Given the description of an element on the screen output the (x, y) to click on. 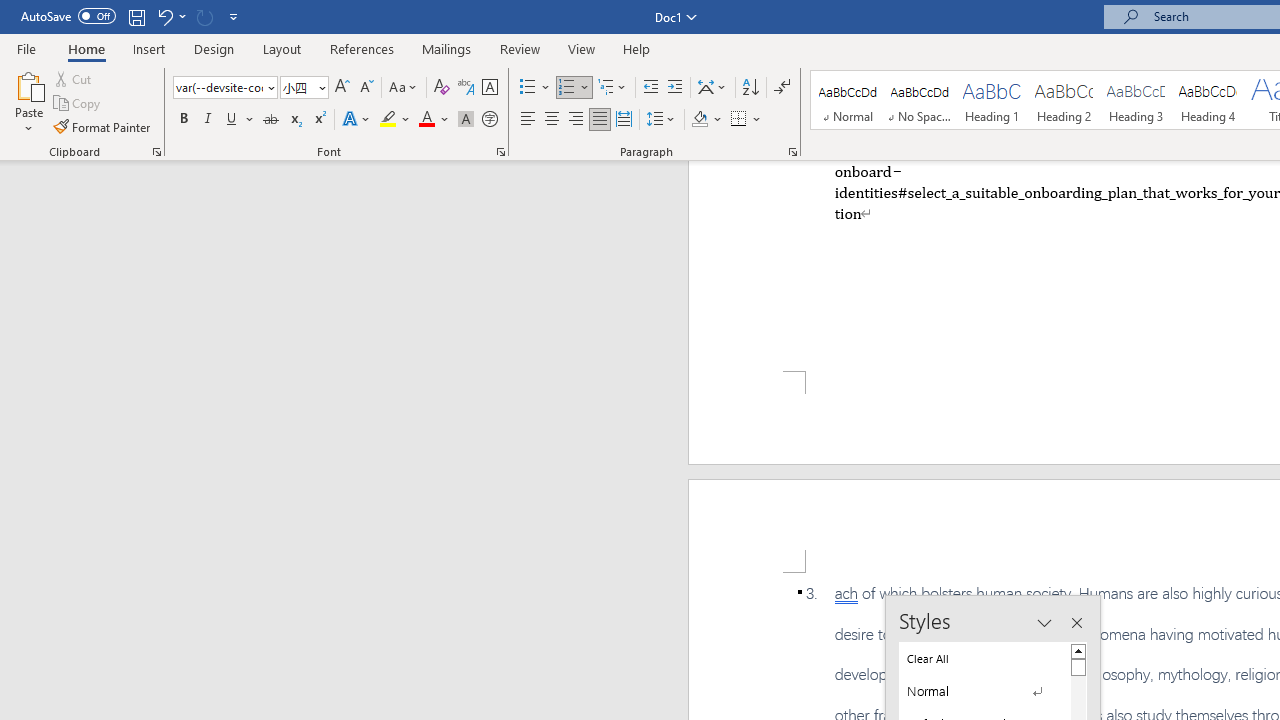
Clear All (984, 658)
Design (214, 48)
Save (136, 15)
View (582, 48)
Character Shading (465, 119)
Grow Font (342, 87)
Class: NetUIImage (971, 691)
Distributed (623, 119)
Align Left (527, 119)
Insert (149, 48)
Can't Repeat (204, 15)
Font (218, 87)
Numbering (566, 87)
